Given the description of an element on the screen output the (x, y) to click on. 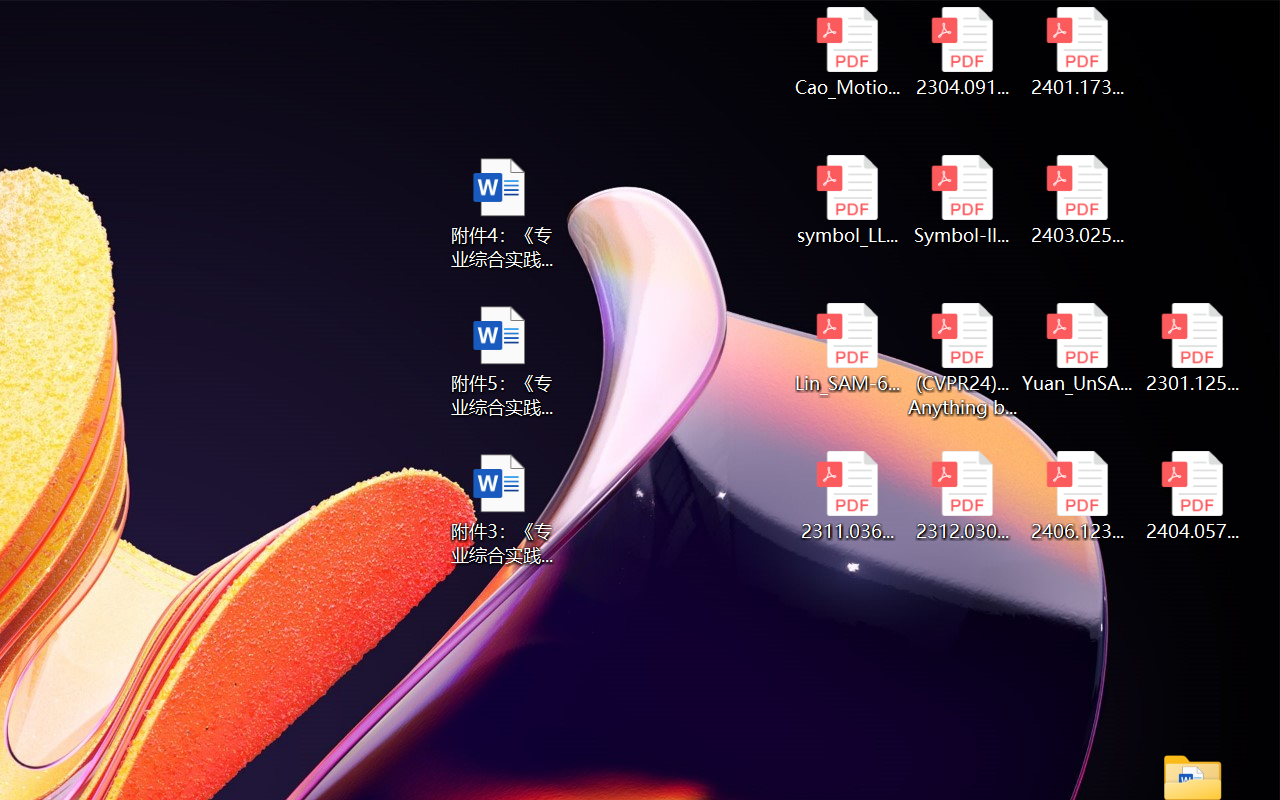
(CVPR24)Matching Anything by Segmenting Anything.pdf (962, 360)
2403.02502v1.pdf (1077, 200)
